Given the description of an element on the screen output the (x, y) to click on. 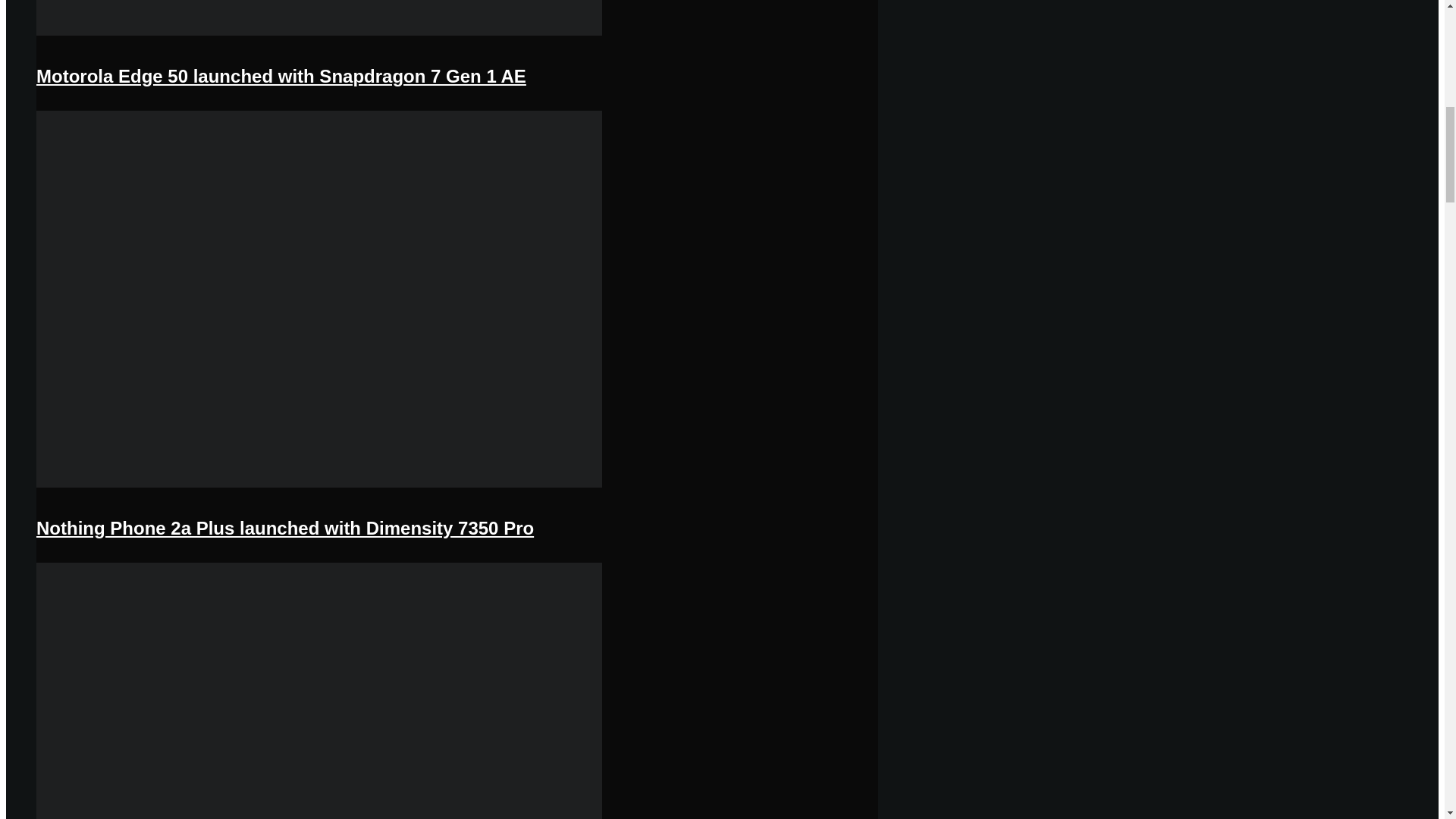
Nothing Phone 2a Plus Design 1 (319, 484)
Nothing Phone 2a Plus launched with Dimensity 7350 Pro (285, 527)
Motorola Edge 50 launched with Snapdragon 7 Gen 1 AE (280, 76)
Motorola Edge 50 Cameras (319, 32)
